Given the description of an element on the screen output the (x, y) to click on. 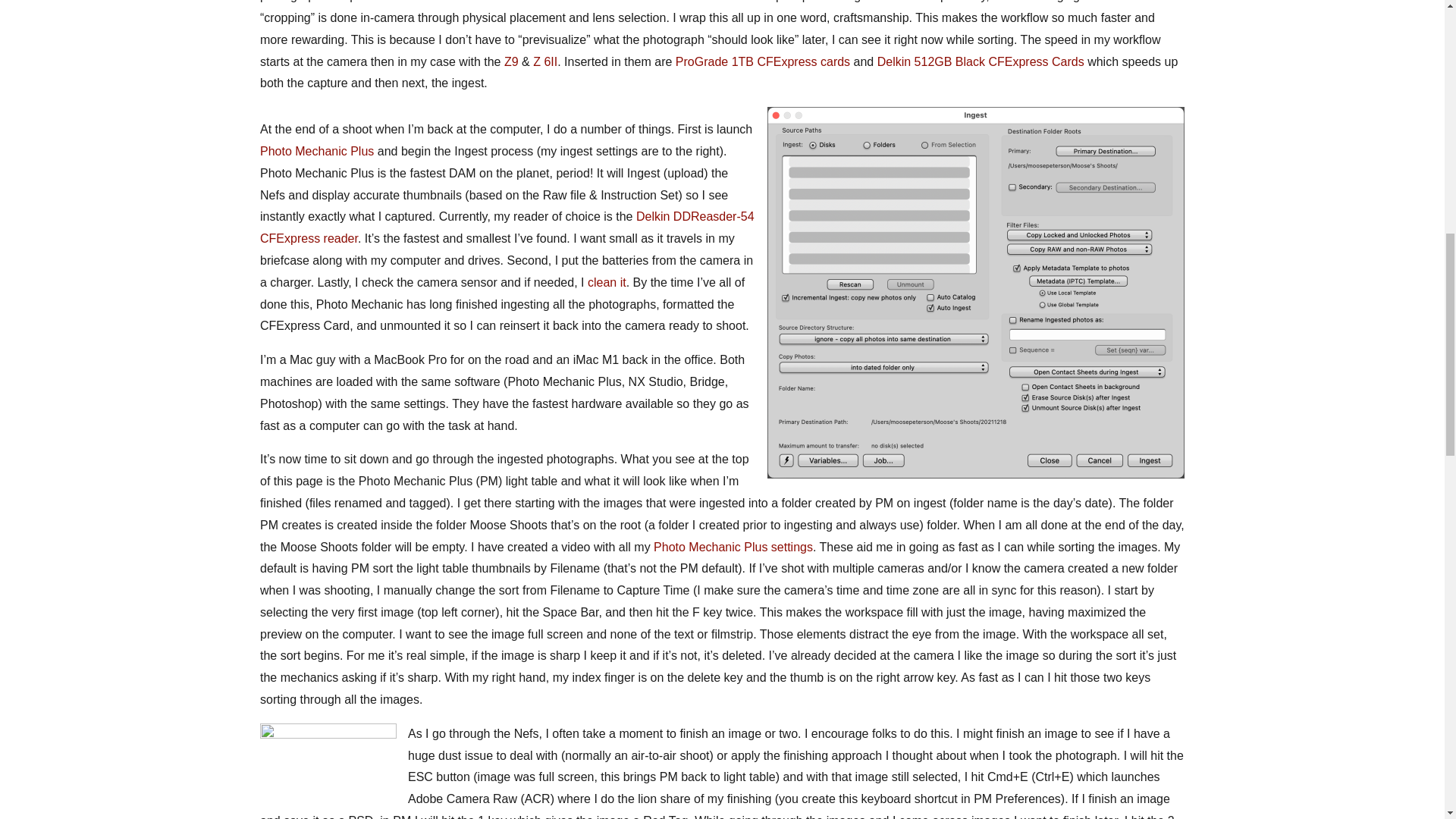
Photo Mechanic Plus (317, 151)
Delkin DDReasder-54 CFExpress reader (507, 226)
Photo Mechanic Plus settings (732, 545)
Delkin 512GB Black CFExpress Cards (980, 61)
ProGrade 1TB CFExpress cards (762, 61)
Z9 (510, 61)
clean it (607, 282)
Z 6II (544, 61)
